Given the description of an element on the screen output the (x, y) to click on. 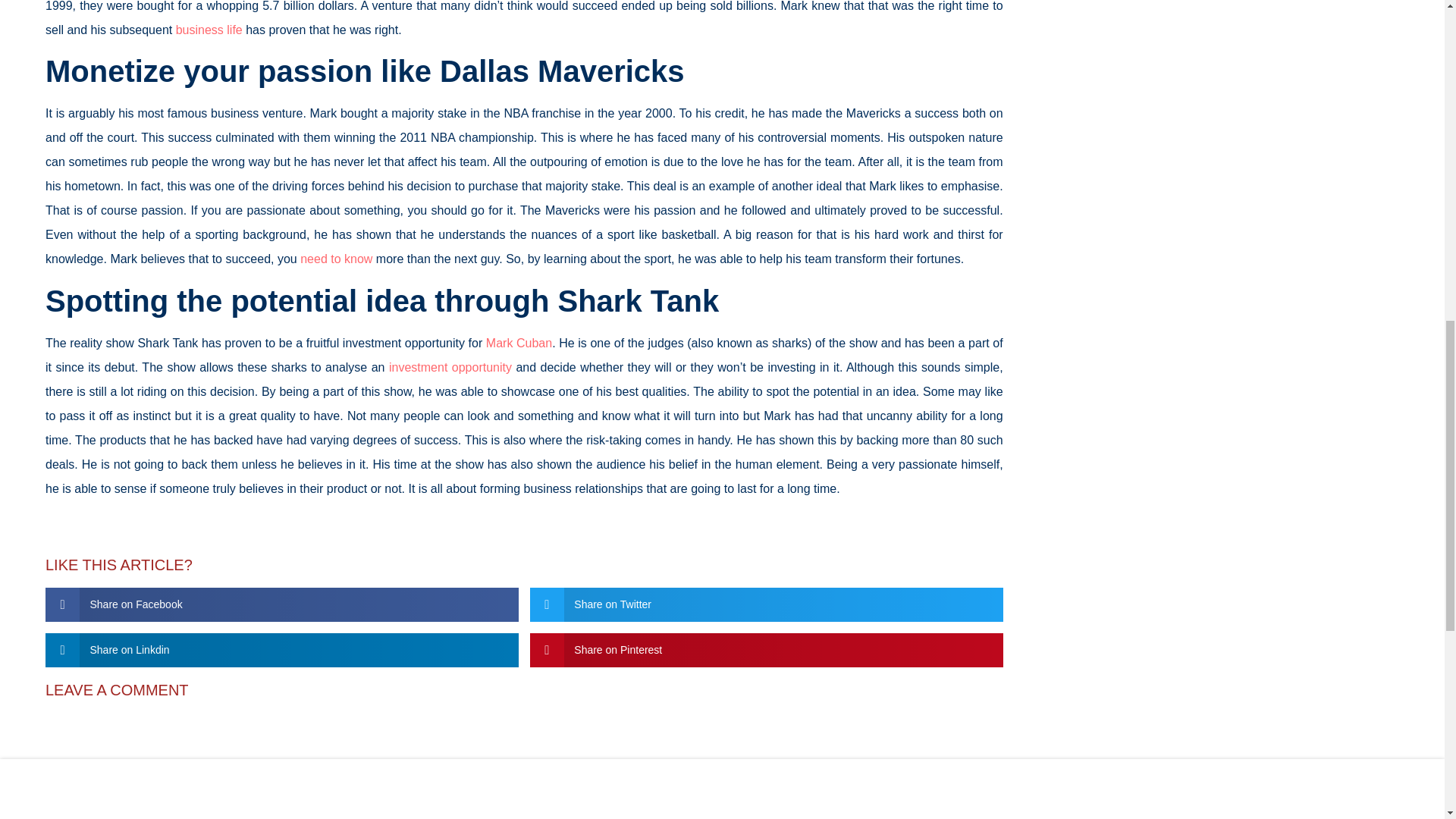
business life (209, 29)
investment opportunity (450, 367)
need to know (335, 258)
Mark Cuban (518, 342)
